Given the description of an element on the screen output the (x, y) to click on. 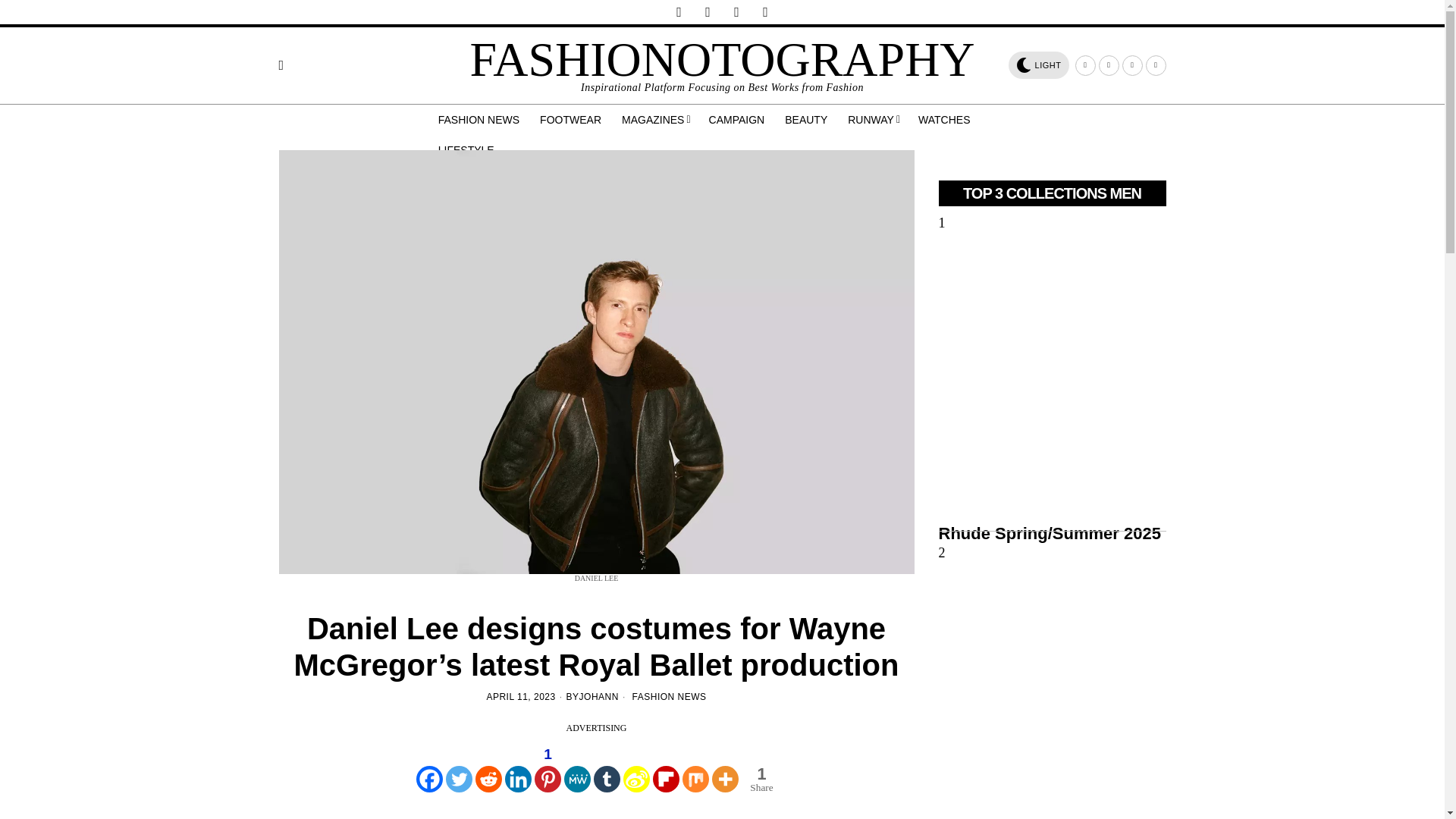
FOOTWEAR (571, 119)
FASHION NEWS (668, 696)
11 Apr, 2023 06:00:00 (520, 697)
CAMPAIGN (738, 119)
FASHION NEWS (480, 119)
BEAUTY (807, 119)
LIFESTYLE (467, 150)
FASHIONOTOGRAPHY (721, 59)
JOHANN (598, 697)
WATCHES (944, 119)
RUNWAY (873, 119)
MAGAZINES (656, 119)
